Given the description of an element on the screen output the (x, y) to click on. 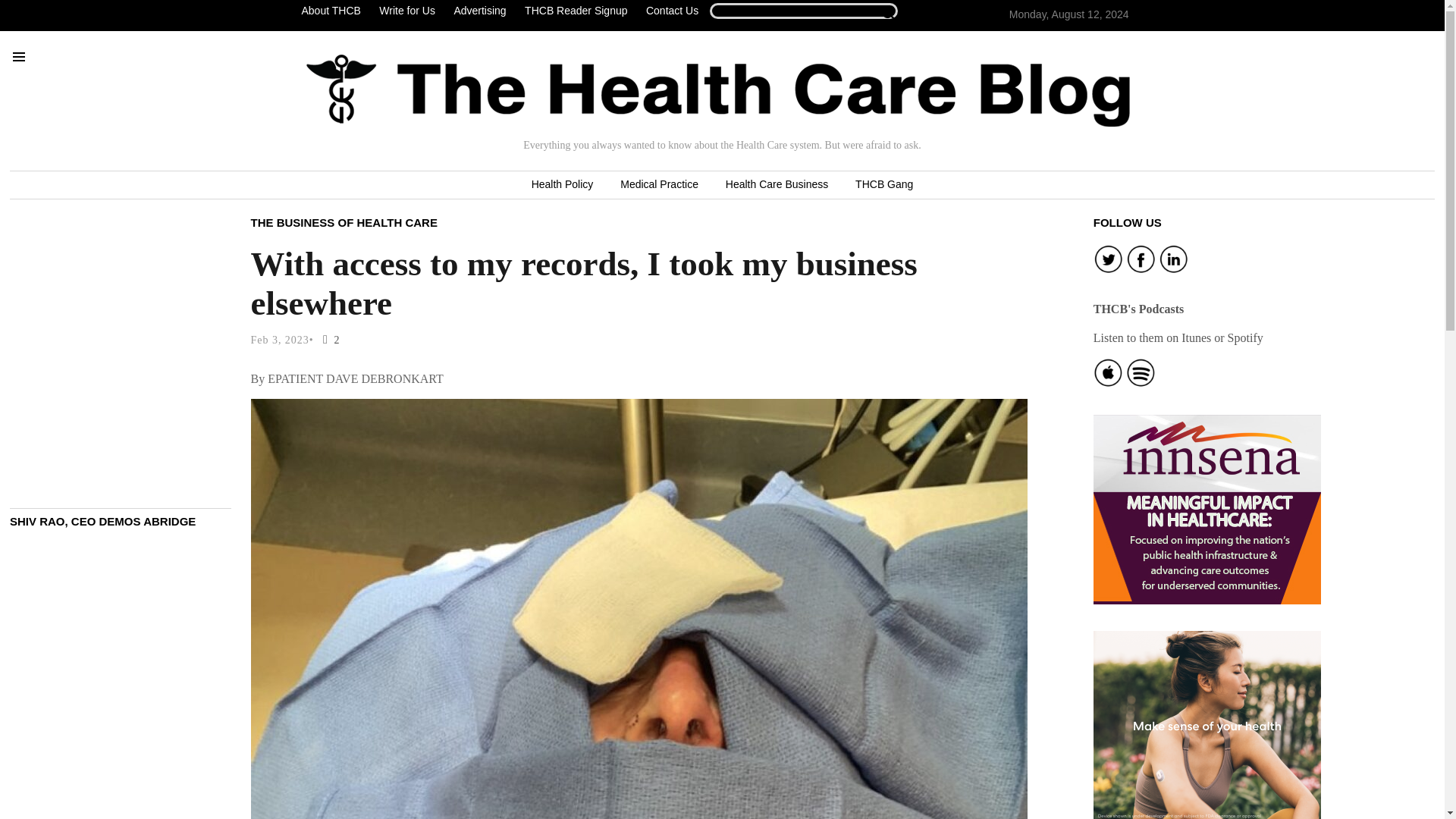
Write for Us (406, 10)
Home (718, 90)
Contact Us (672, 10)
THE BUSINESS OF HEALTH CARE (343, 221)
Medical Practice (659, 184)
Advertising (479, 10)
THCB Reader Signup (575, 10)
2 (328, 339)
Health Care Business (776, 184)
About THCB (334, 10)
